Given the description of an element on the screen output the (x, y) to click on. 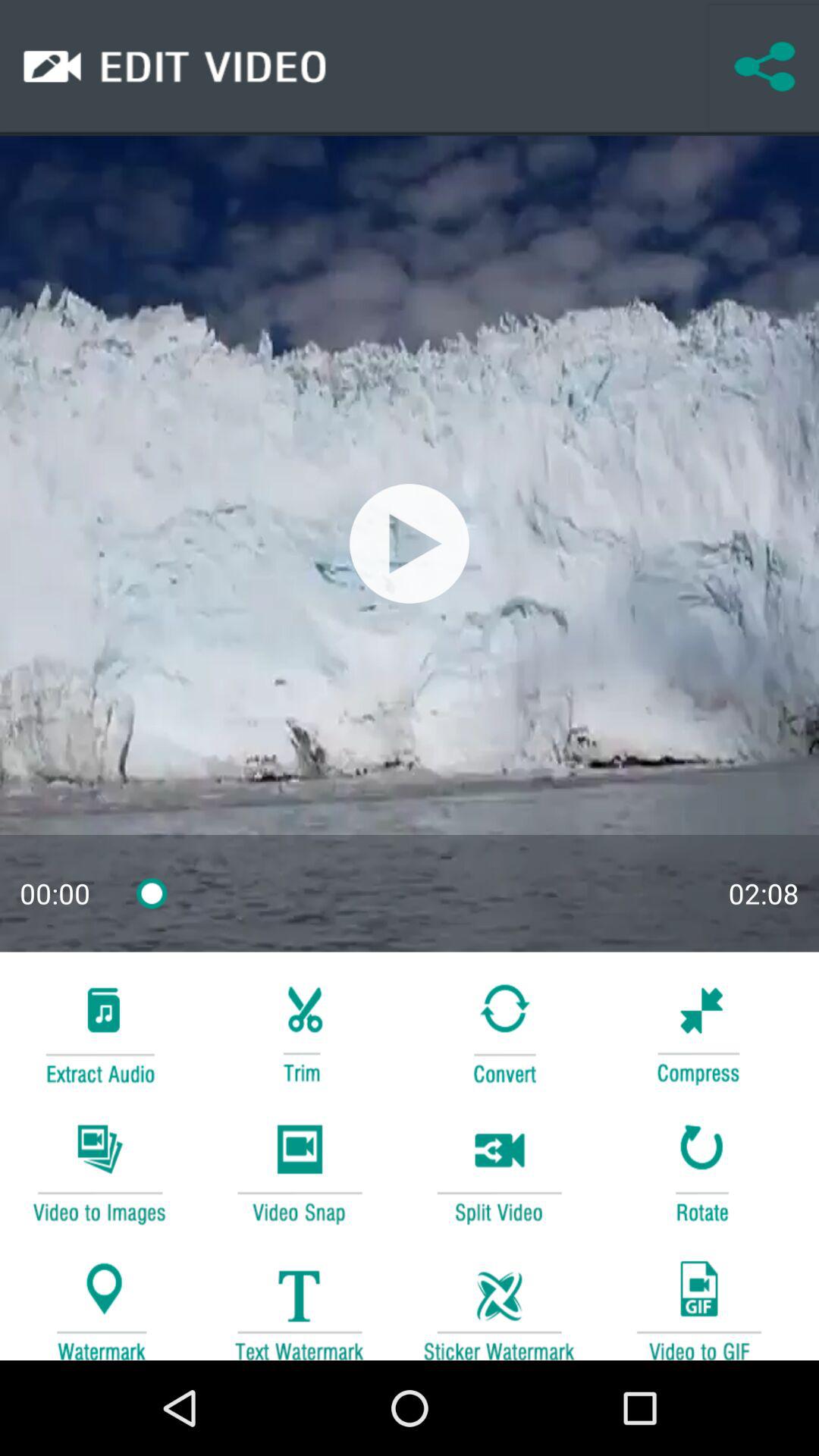
turning option (498, 1032)
